Given the description of an element on the screen output the (x, y) to click on. 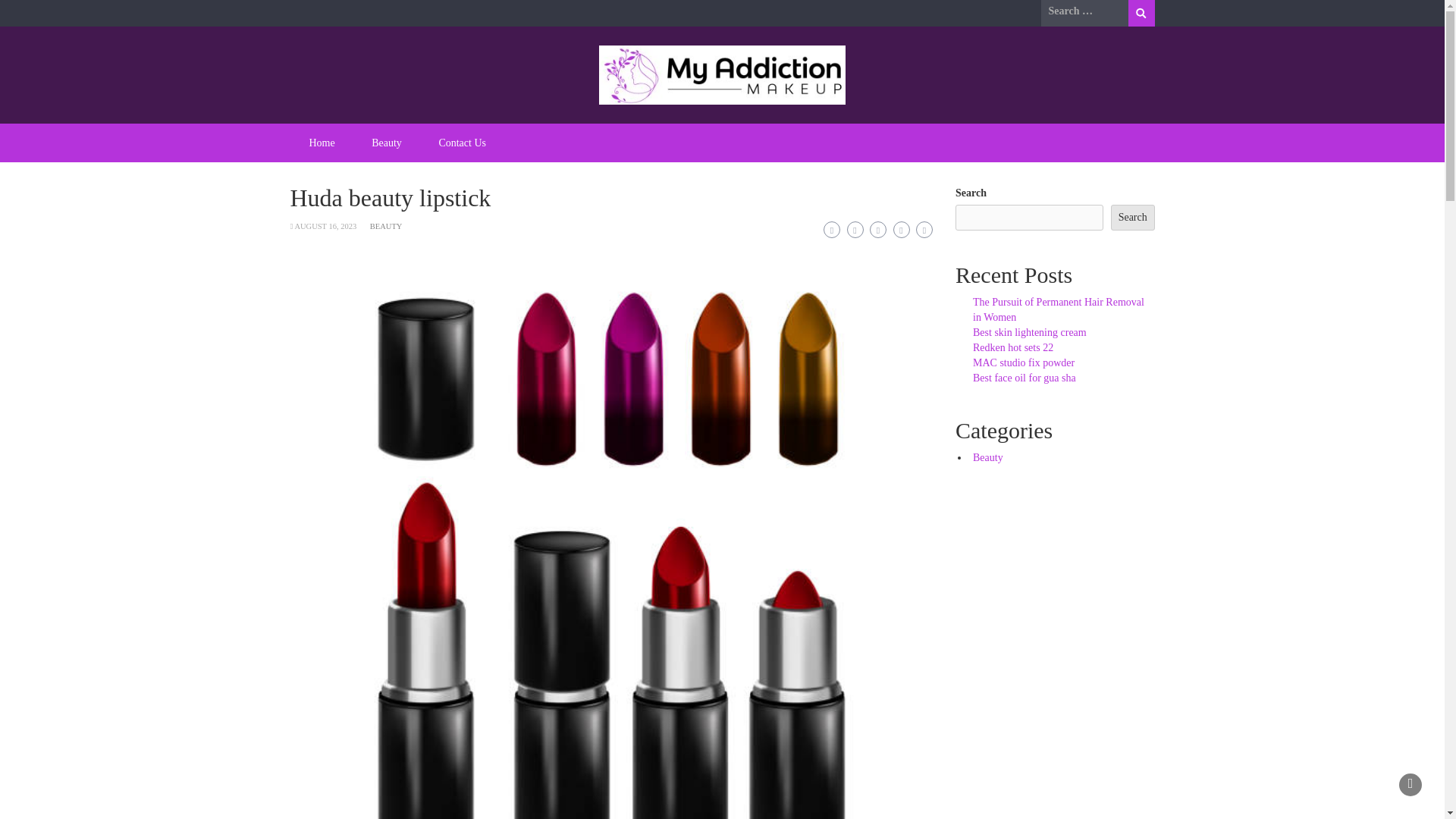
BEAUTY (386, 225)
Home (322, 142)
Best skin lightening cream (1029, 332)
Search for: (1083, 11)
MAC studio fix powder (1023, 362)
Beauty (386, 142)
Search (1141, 13)
The Pursuit of Permanent Hair Removal in Women (1058, 309)
Best face oil for gua sha (1023, 378)
AUGUST 16, 2023 (325, 225)
